Given the description of an element on the screen output the (x, y) to click on. 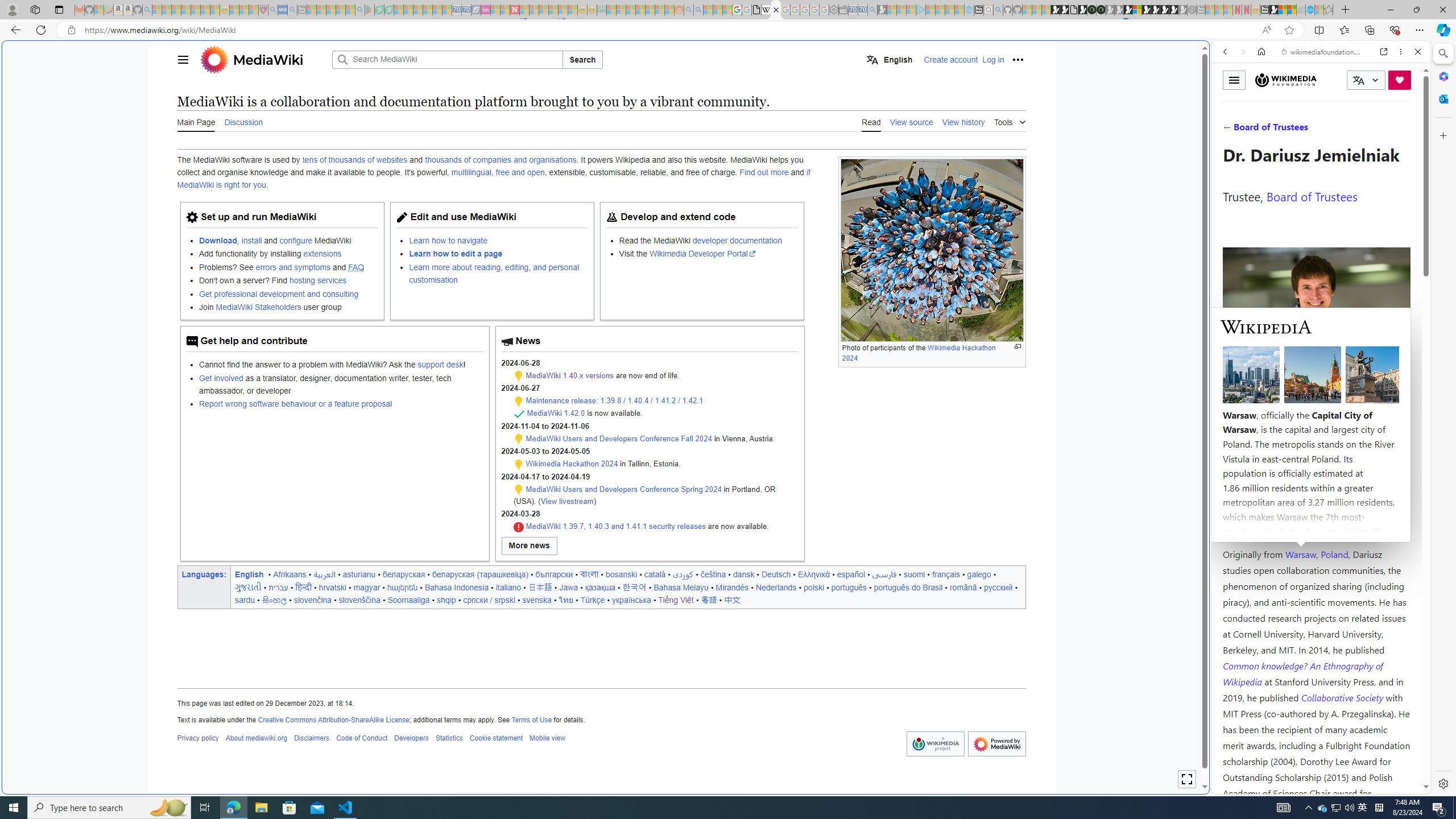
Developers (411, 738)
Get involved (220, 377)
CURRENT LANGUAGE: (1366, 80)
About mediawiki.org (255, 738)
Wikimedia Foundation (1285, 79)
bosanski (621, 574)
More options (1401, 51)
Languages: (204, 574)
Kinda Frugal - MSN - Sleeping (649, 9)
Recipes - MSN - Sleeping (234, 9)
